Given the description of an element on the screen output the (x, y) to click on. 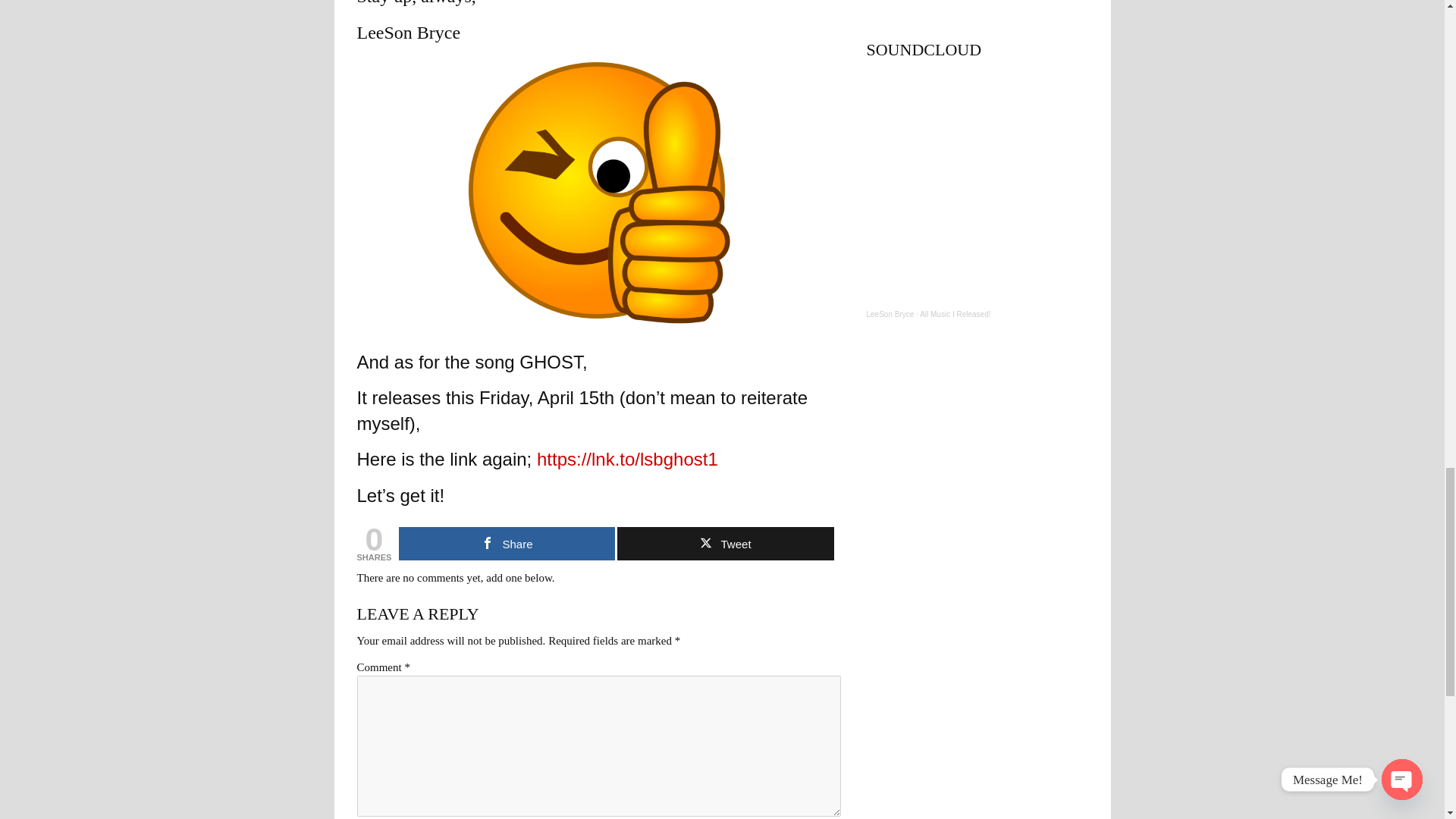
Share (506, 543)
Tweet (724, 543)
All Music I Released! (955, 314)
LeeSon Bryce (890, 314)
